Given the description of an element on the screen output the (x, y) to click on. 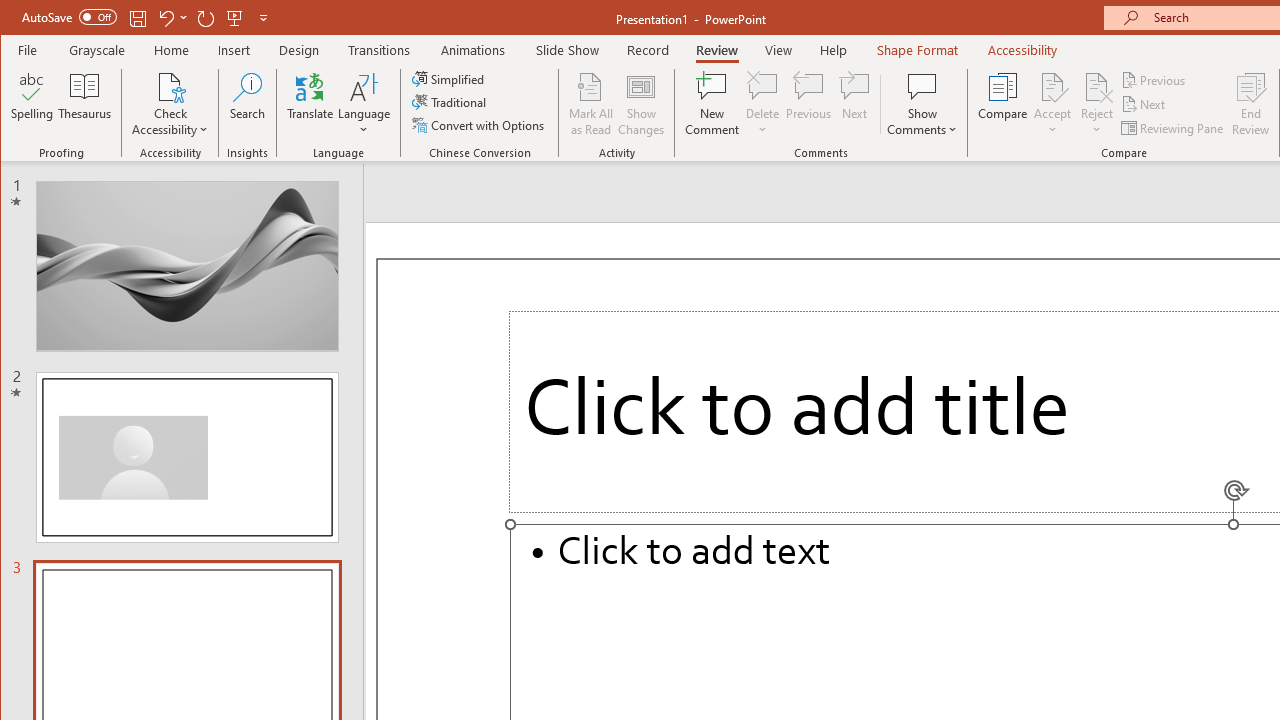
Simplified (450, 78)
Reviewing Pane (1173, 127)
Spelling... (32, 104)
Show Comments (922, 104)
Slide (187, 457)
Accept (1052, 104)
